Given the description of an element on the screen output the (x, y) to click on. 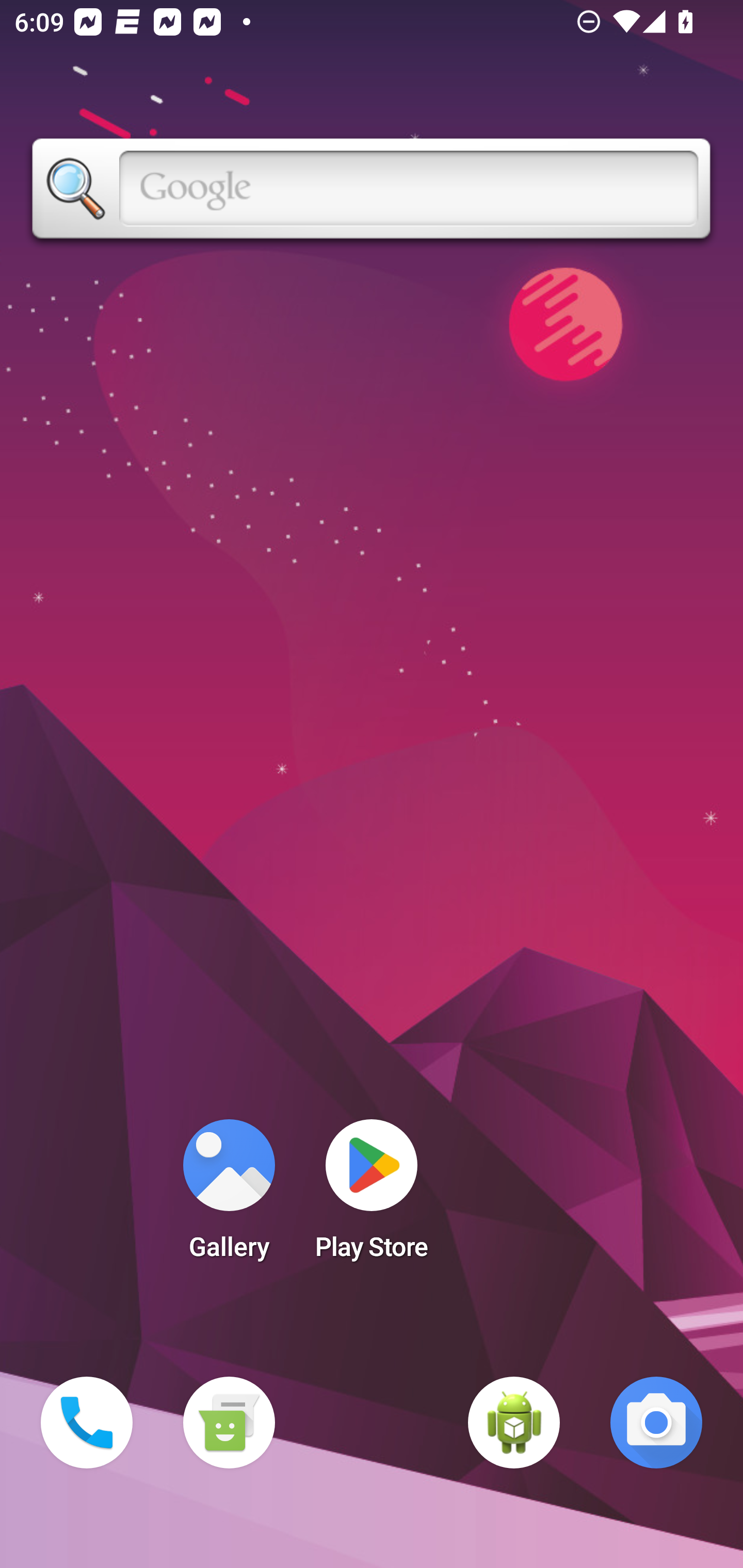
Gallery (228, 1195)
Play Store (371, 1195)
Phone (86, 1422)
Messaging (228, 1422)
WebView Browser Tester (513, 1422)
Camera (656, 1422)
